Given the description of an element on the screen output the (x, y) to click on. 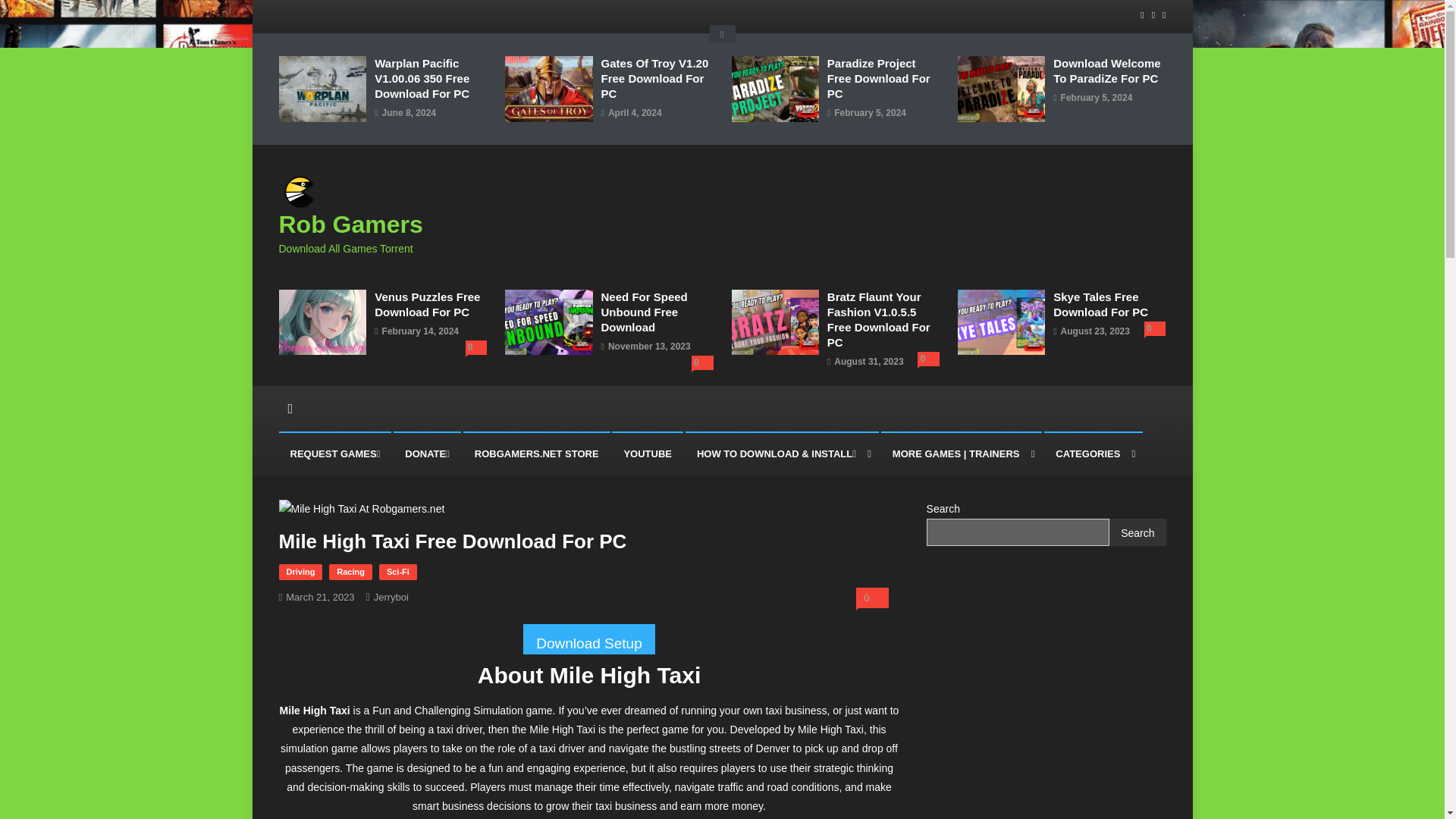
Need For Speed Unbound Free Download (657, 311)
0 (476, 347)
Feature Posts (722, 34)
0 (702, 362)
February 5, 2024 (1096, 98)
June 8, 2024 (408, 113)
August 23, 2023 (1095, 331)
Warplan Pacific V1.00.06 350 Free Download For PC (430, 78)
Bratz Flaunt Your Fashion V1.0.5.5 Free Download For PC (883, 319)
Paradize Project Free Download For PC (883, 78)
